Given the description of an element on the screen output the (x, y) to click on. 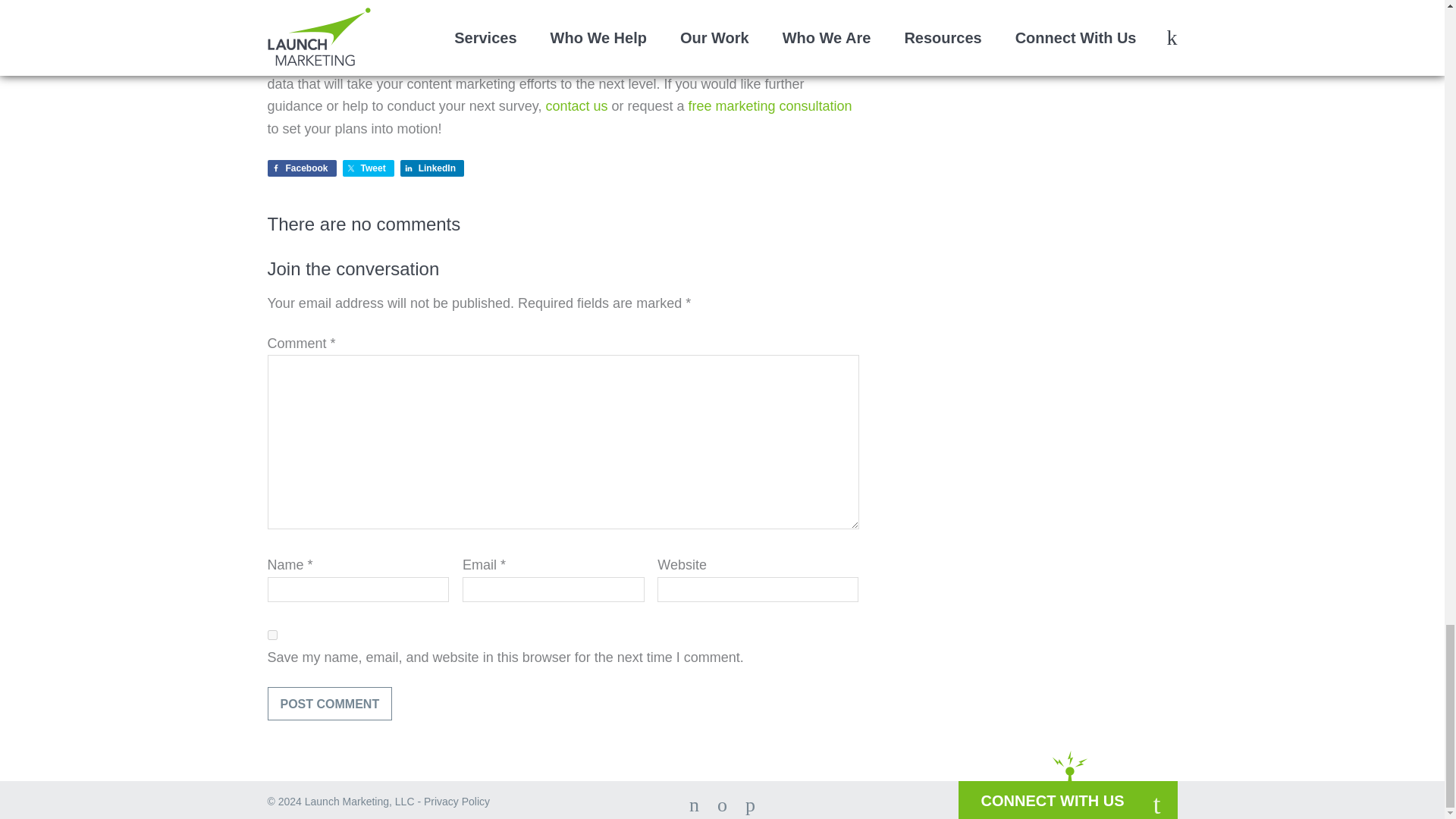
Post Comment (328, 703)
Share on LinkedIn (432, 167)
Share on Twitter (368, 167)
Share on Facebook (301, 167)
yes (271, 634)
